Given the description of an element on the screen output the (x, y) to click on. 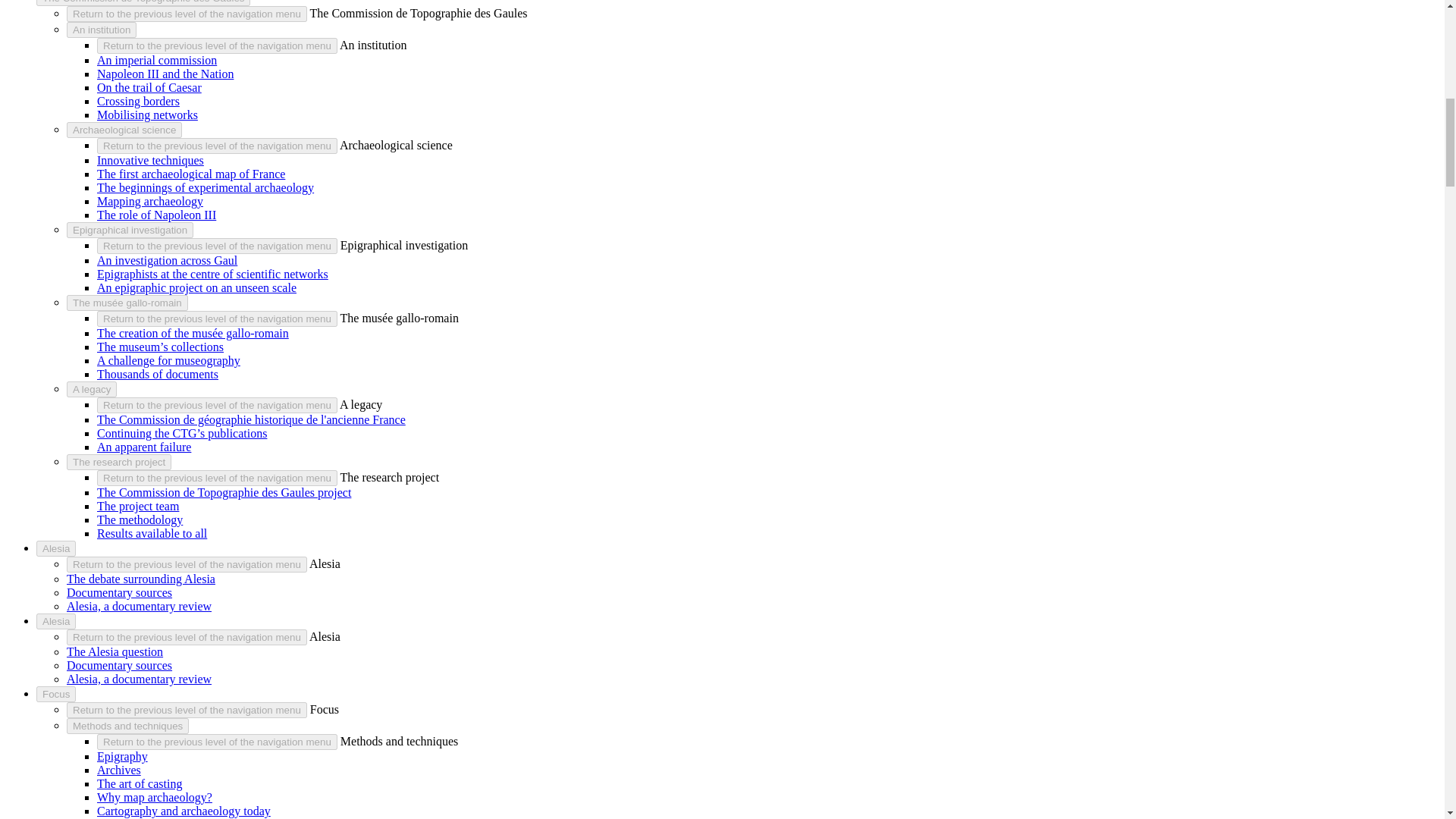
Return to the previous level of the navigation menu (186, 13)
Return to the previous level of the navigation menu (217, 405)
Return to the previous level of the navigation menu (217, 145)
Return to the previous level of the navigation menu (186, 564)
Return to the previous level of the navigation menu (217, 318)
Return to the previous level of the navigation menu (217, 245)
Return to the previous level of the navigation menu (217, 45)
Return to the previous level of the navigation menu (217, 478)
Return to the previous level of the navigation menu (186, 637)
Return to the previous level of the navigation menu (217, 741)
Return to the previous level of the navigation menu (186, 709)
